Given the description of an element on the screen output the (x, y) to click on. 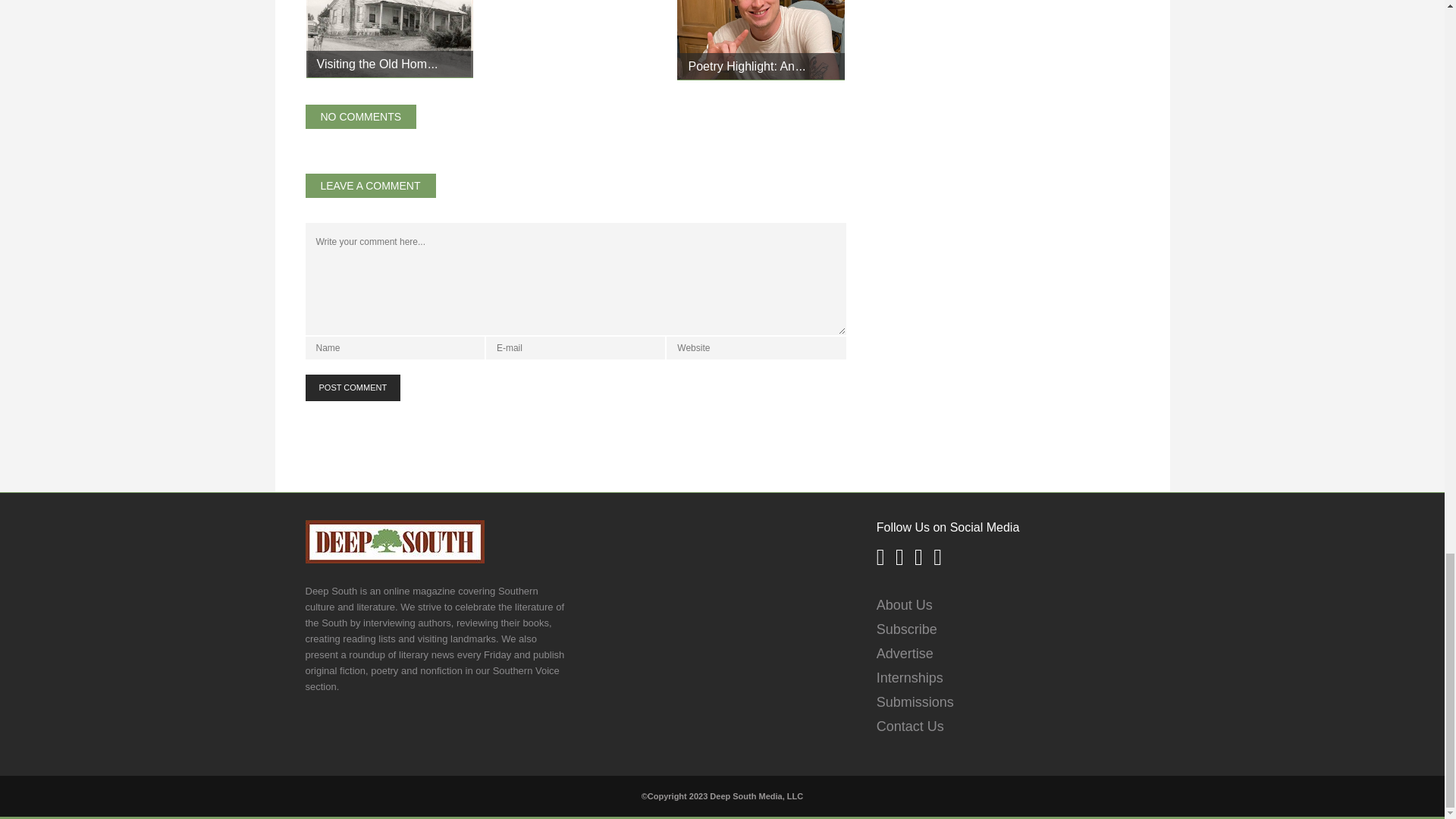
Poetry Highlight: An Interview with C.W. Bryan (746, 65)
Visiting the Old Homeplace (377, 63)
Visiting the Old Homeplace (389, 38)
POST COMMENT (352, 387)
Poetry Highlight: An Interview with C.W. Bryan (760, 40)
